Given the description of an element on the screen output the (x, y) to click on. 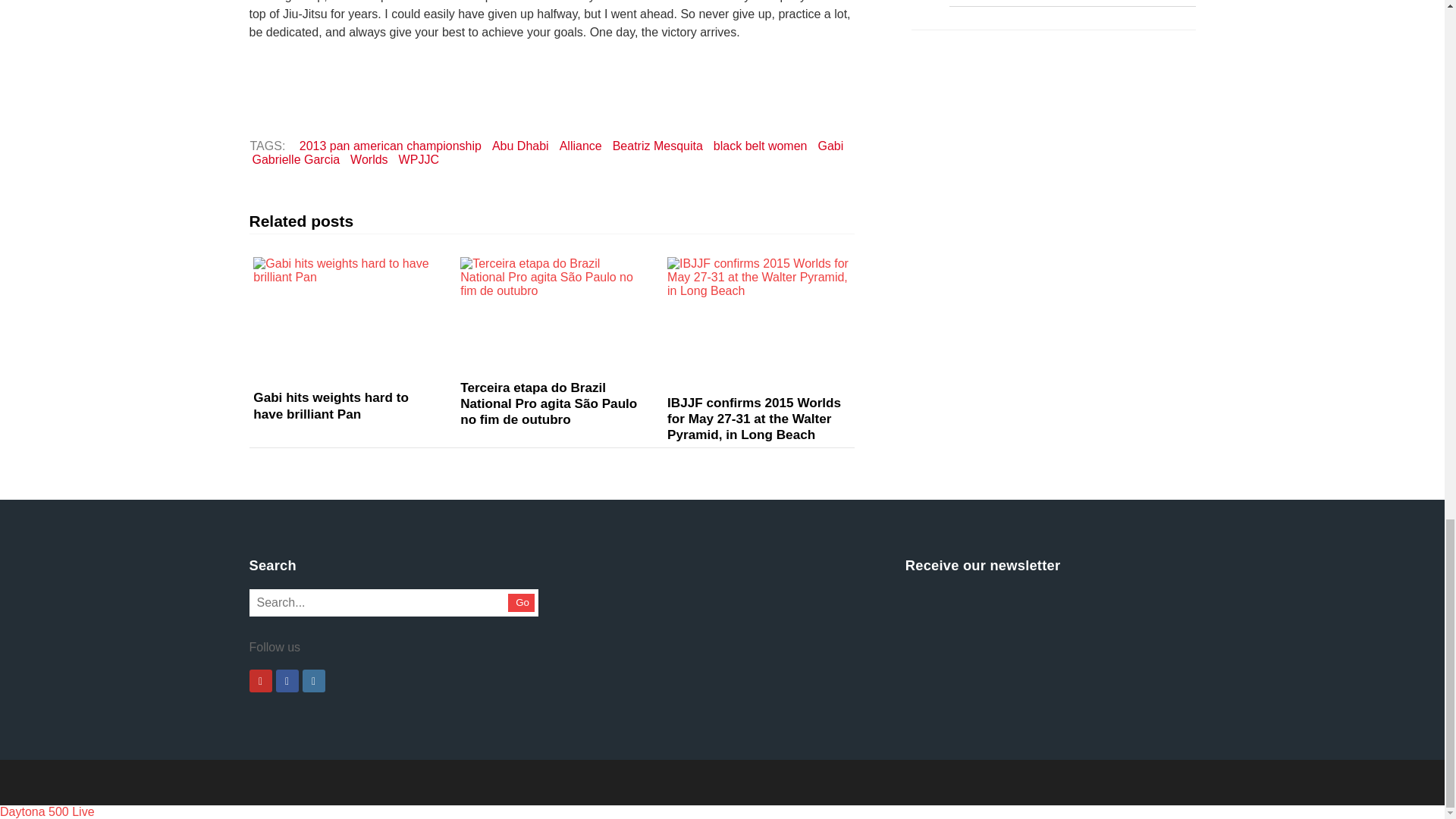
Alliance (580, 145)
WPJJC (418, 158)
2013 pan american championship (390, 145)
black belt women (759, 145)
Gabi hits weights hard to have brilliant Pan (344, 317)
Gabi (830, 145)
Gabi hits weights hard to have brilliant Pan (331, 404)
Worlds (369, 158)
